Given the description of an element on the screen output the (x, y) to click on. 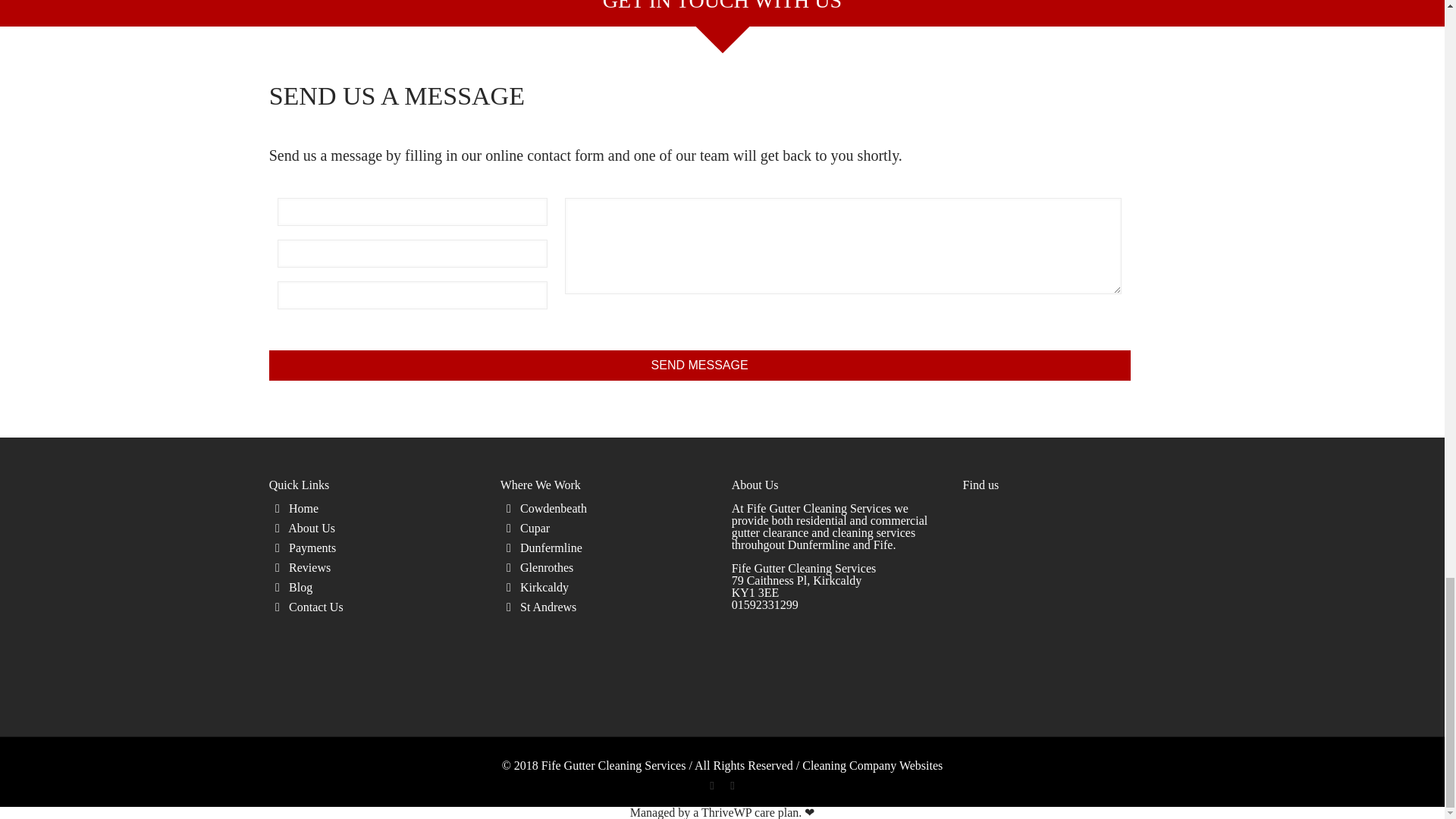
SEND MESSAGE (700, 365)
Contact Us (315, 606)
Reviews (309, 567)
About Us (311, 527)
Payments (312, 547)
SEND MESSAGE (700, 365)
Facebook (711, 785)
Home (303, 508)
Blog (300, 586)
Cowdenbeath (552, 508)
